Given the description of an element on the screen output the (x, y) to click on. 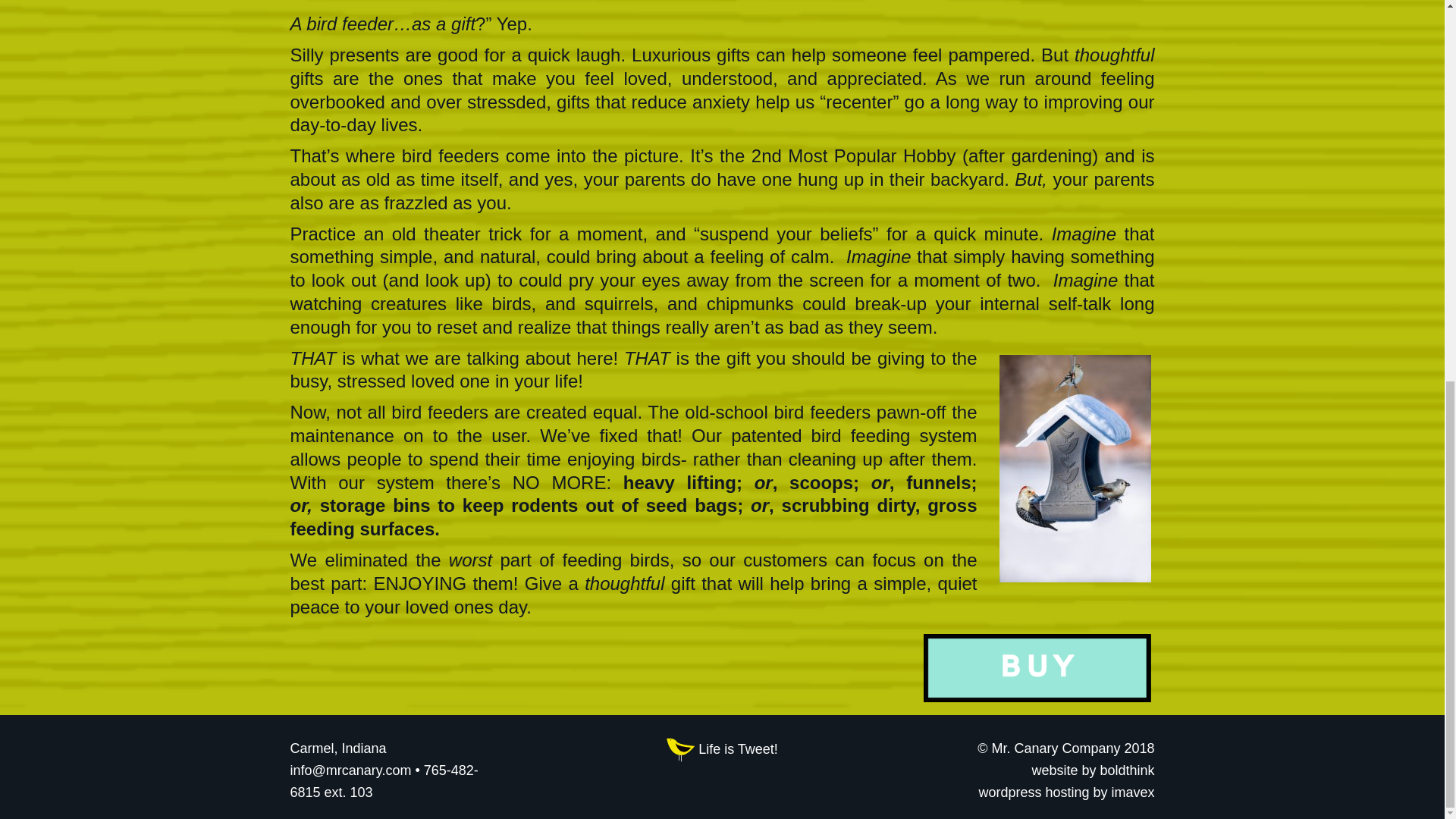
wordpress hosting by imavex (1066, 792)
765-482-6815 ext. 103 (383, 781)
boldthink (1126, 770)
